Given the description of an element on the screen output the (x, y) to click on. 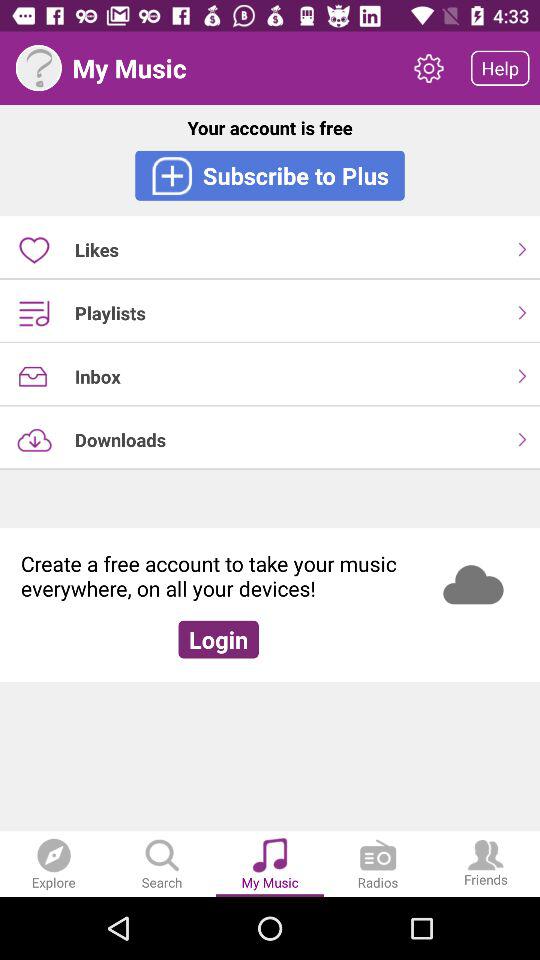
turn off the item next to my music icon (38, 68)
